Given the description of an element on the screen output the (x, y) to click on. 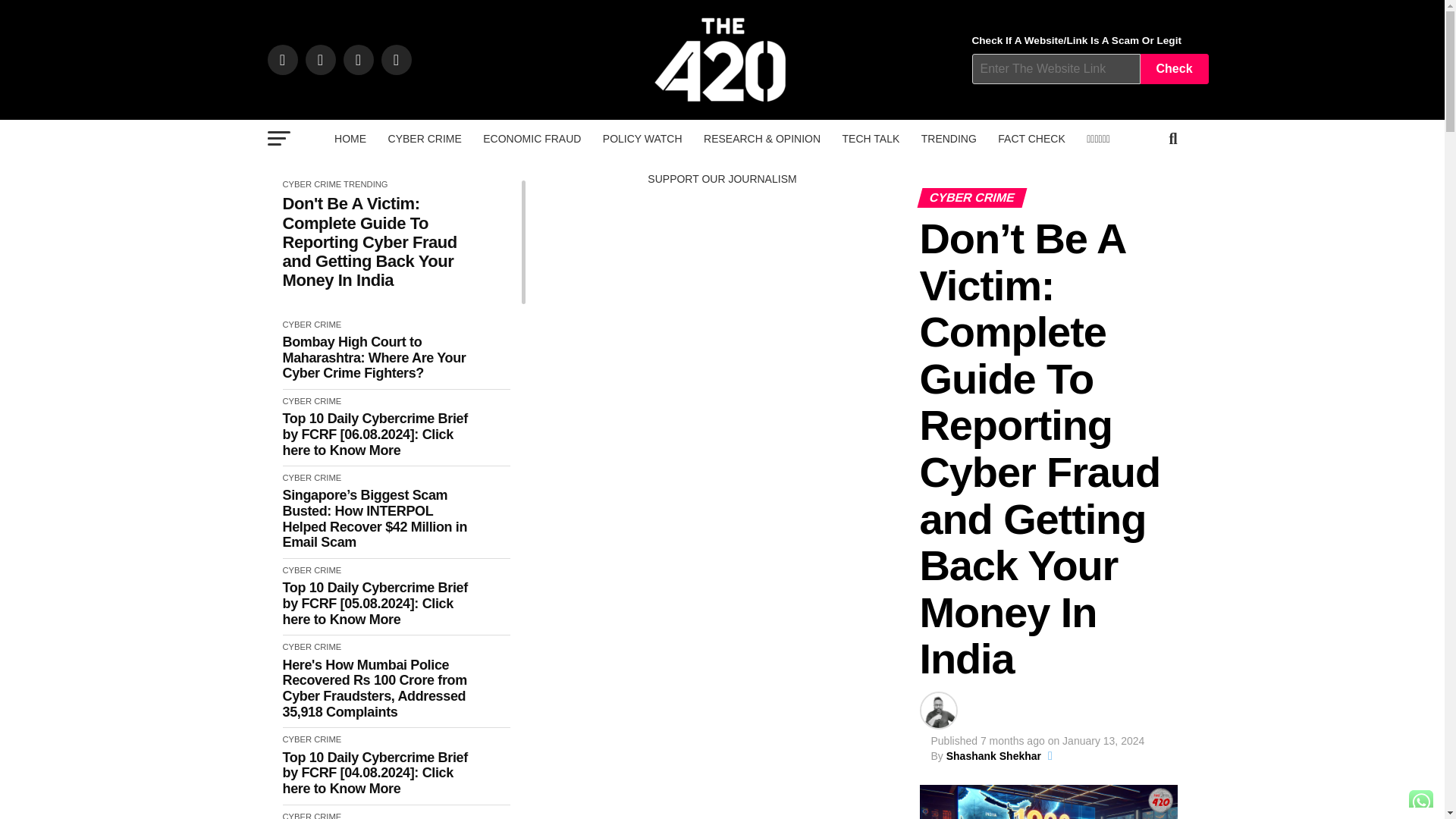
Check (1174, 69)
ECONOMIC FRAUD (531, 138)
Posts by Shashank Shekhar (993, 756)
POLICY WATCH (642, 138)
HOME (349, 138)
CYBER CRIME (424, 138)
